Given the description of an element on the screen output the (x, y) to click on. 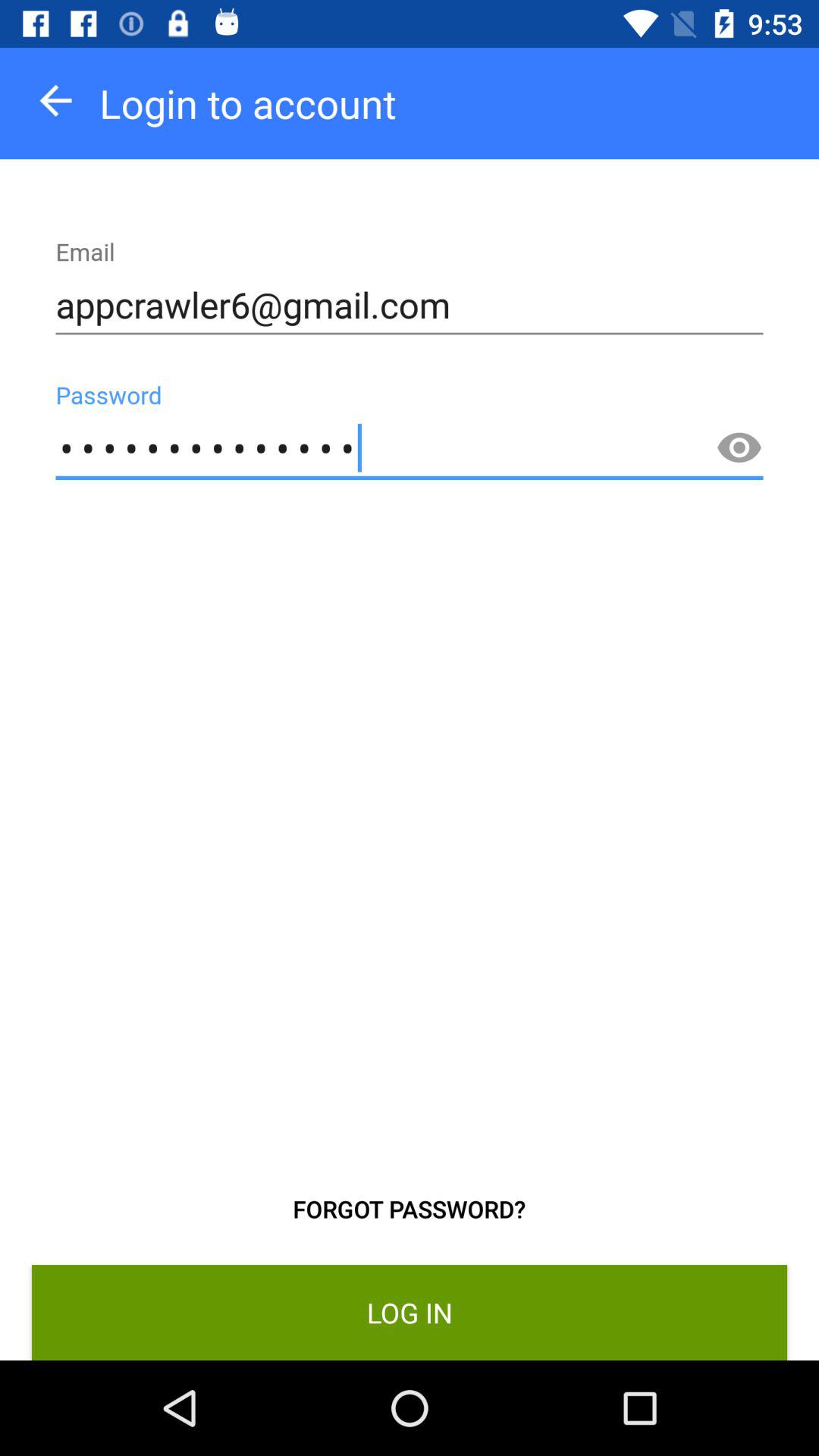
open the appcrawler6@gmail.com icon (409, 305)
